Given the description of an element on the screen output the (x, y) to click on. 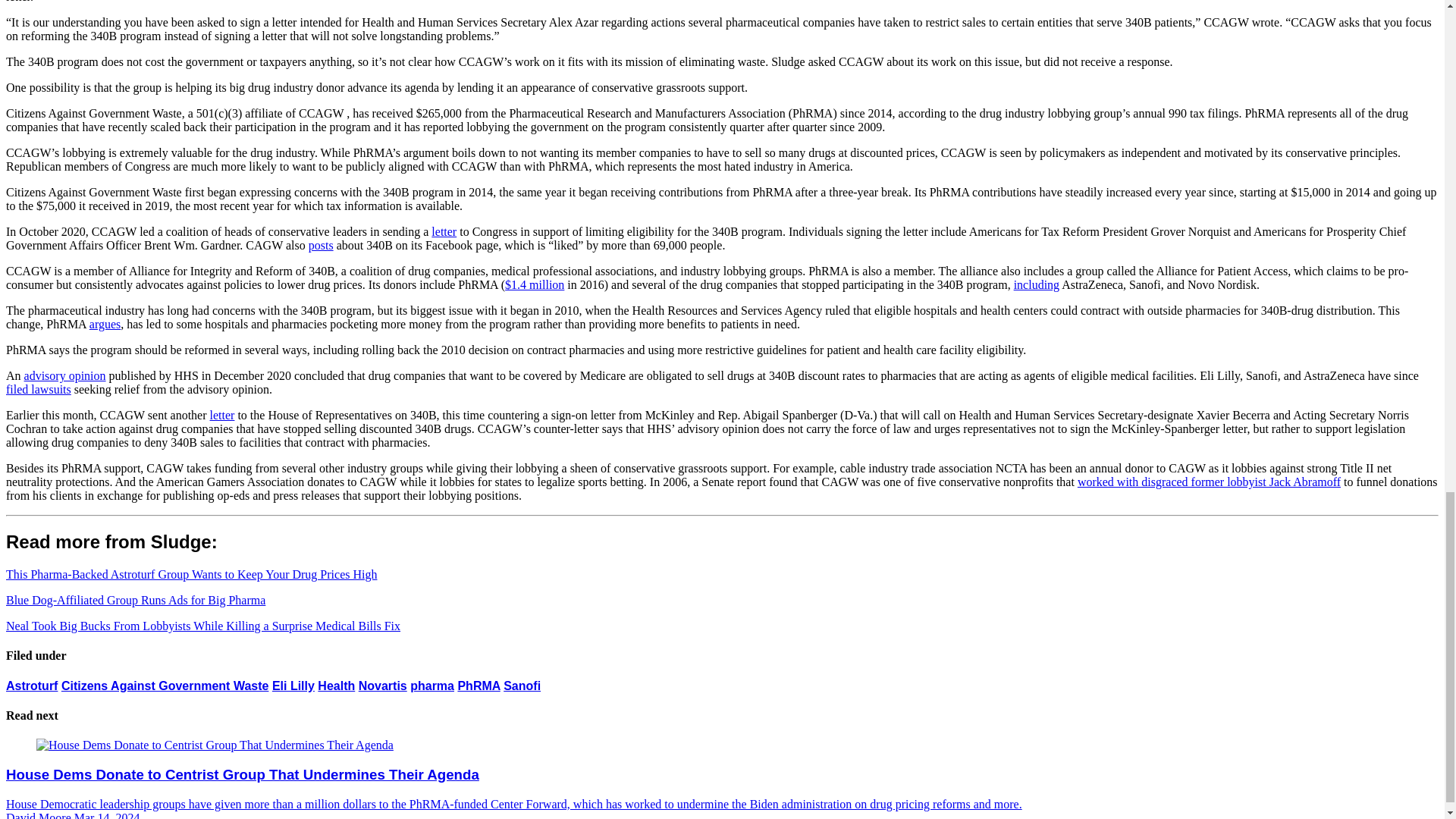
Eli Lilly (293, 685)
filed lawsuits (38, 389)
argues (104, 323)
including (1036, 284)
Astroturf (31, 685)
pharma (432, 685)
Novartis (382, 685)
Citizens Against Government Waste (165, 685)
letter (221, 414)
Blue Dog-Affiliated Group Runs Ads for Big Pharma (134, 599)
worked with disgraced former lobbyist Jack Abramoff (1208, 481)
advisory opinion (65, 375)
posts (320, 245)
